Given the description of an element on the screen output the (x, y) to click on. 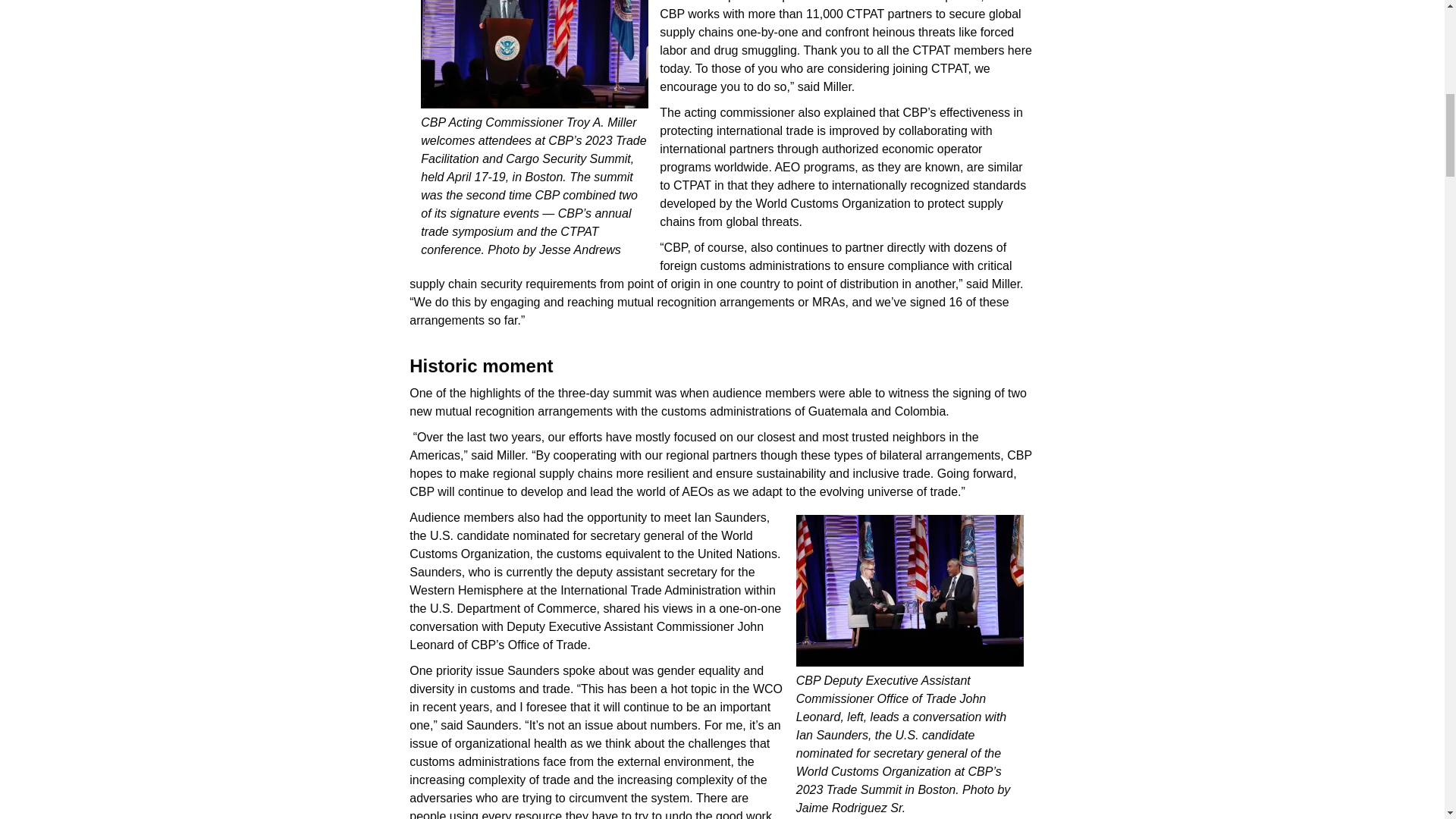
DEAC John Leonard interviews U.S. Candidate Ian Saunders.  (909, 593)
DEAC John Leonard interviews U.S. Candidate Ian Saunders.  (909, 590)
